Given the description of an element on the screen output the (x, y) to click on. 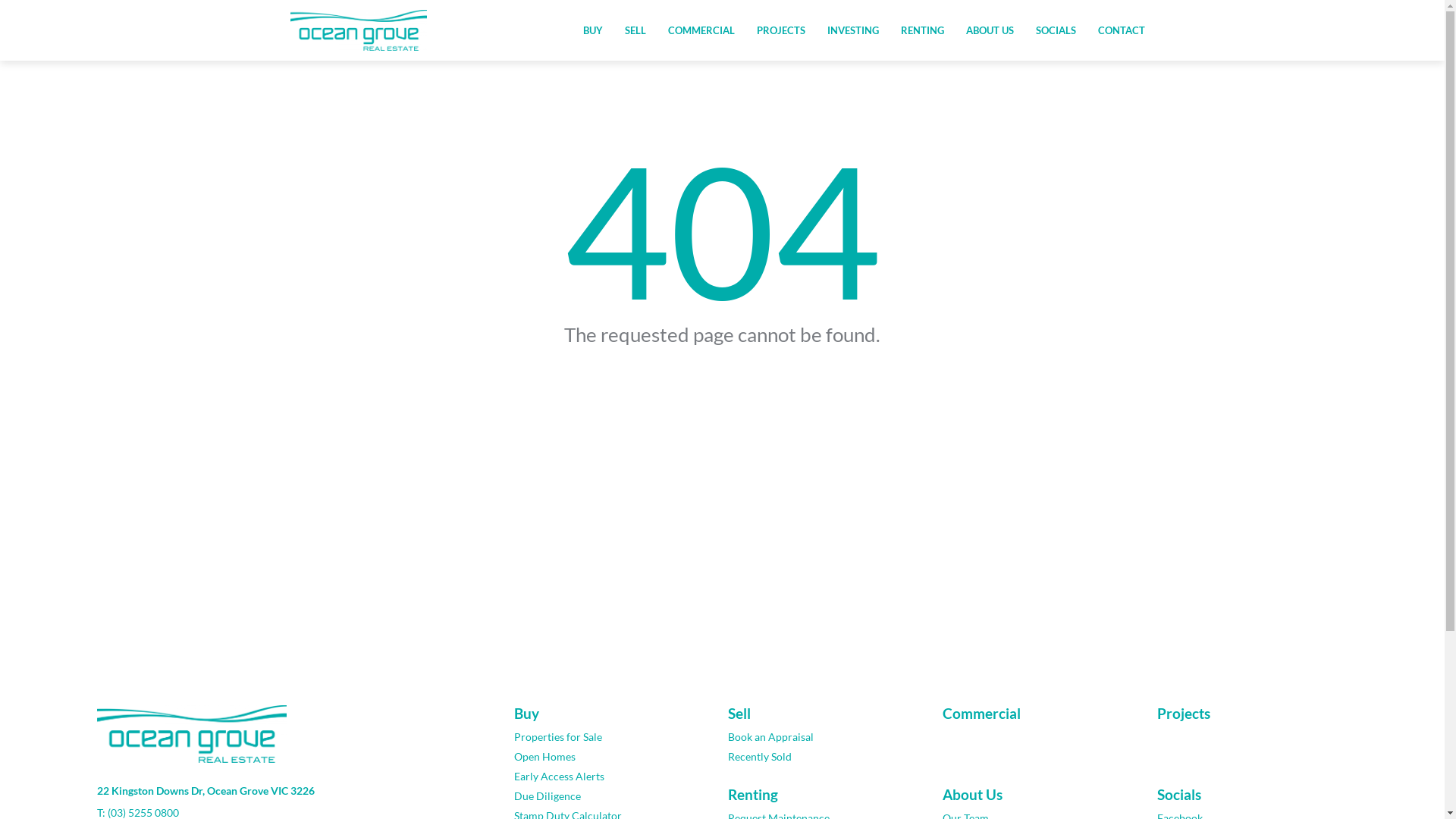
Open Homes Element type: text (609, 756)
Recently Sold Element type: text (823, 756)
About Us Element type: text (1037, 794)
SOCIALS Element type: text (1055, 30)
PROJECTS Element type: text (780, 30)
RENTING Element type: text (921, 30)
Sell Element type: text (823, 713)
Properties for Sale Element type: text (609, 736)
Commercial Element type: text (1037, 713)
INVESTING Element type: text (852, 30)
Book an Appraisal Element type: text (823, 736)
Due Diligence Element type: text (609, 795)
Renting Element type: text (823, 794)
Early Access Alerts Element type: text (609, 776)
BUY Element type: text (592, 30)
CONTACT Element type: text (1120, 30)
Socials Element type: text (1252, 794)
SELL Element type: text (634, 30)
Projects Element type: text (1252, 713)
ABOUT US Element type: text (988, 30)
COMMERCIAL Element type: text (701, 30)
Buy Element type: text (609, 713)
